Given the description of an element on the screen output the (x, y) to click on. 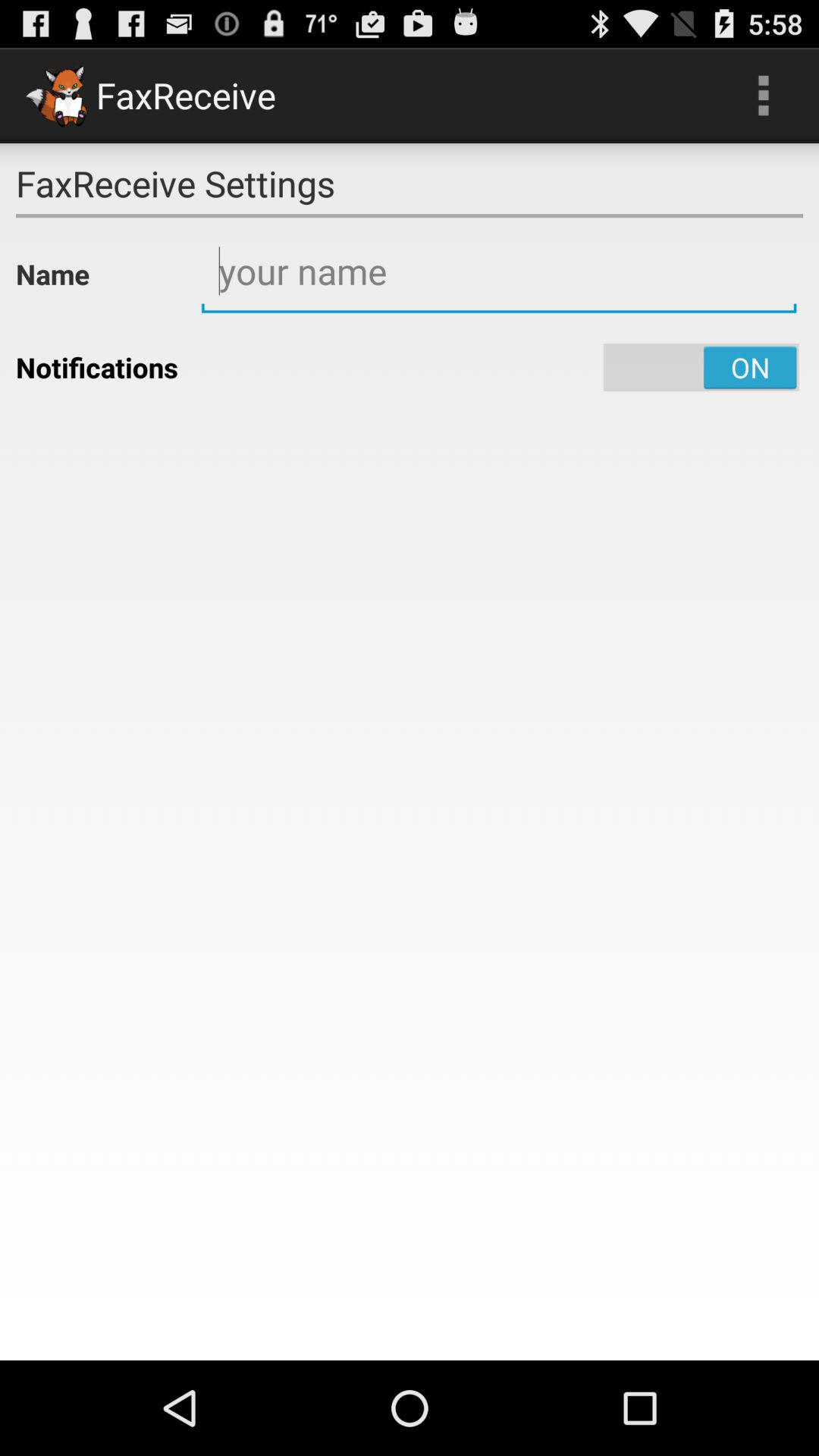
text box for name (499, 271)
